Given the description of an element on the screen output the (x, y) to click on. 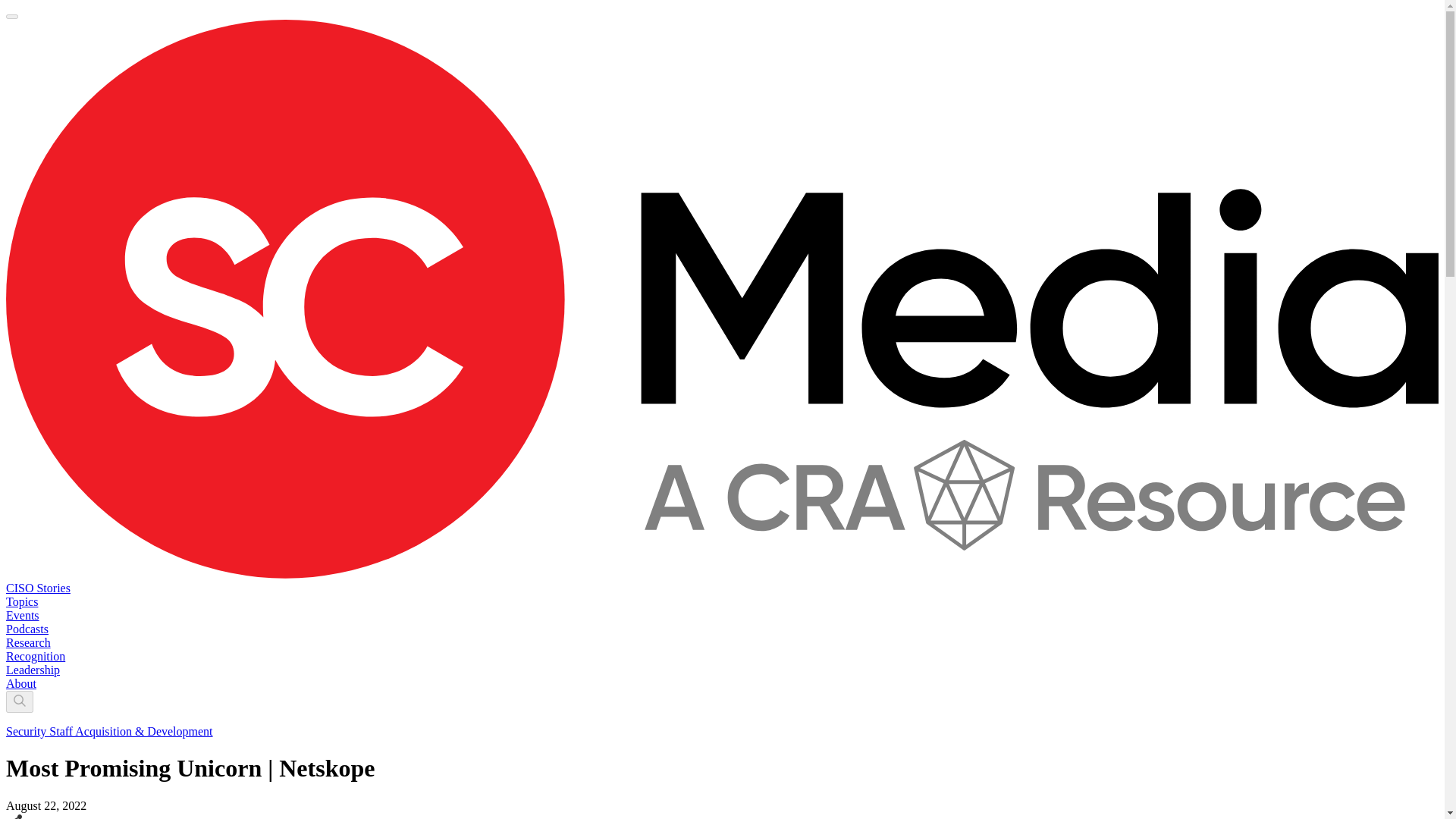
Research (27, 642)
Leadership (32, 669)
Recognition (35, 656)
About (20, 683)
CISO Stories (37, 587)
Podcasts (26, 628)
Topics (21, 601)
Events (22, 615)
